Given the description of an element on the screen output the (x, y) to click on. 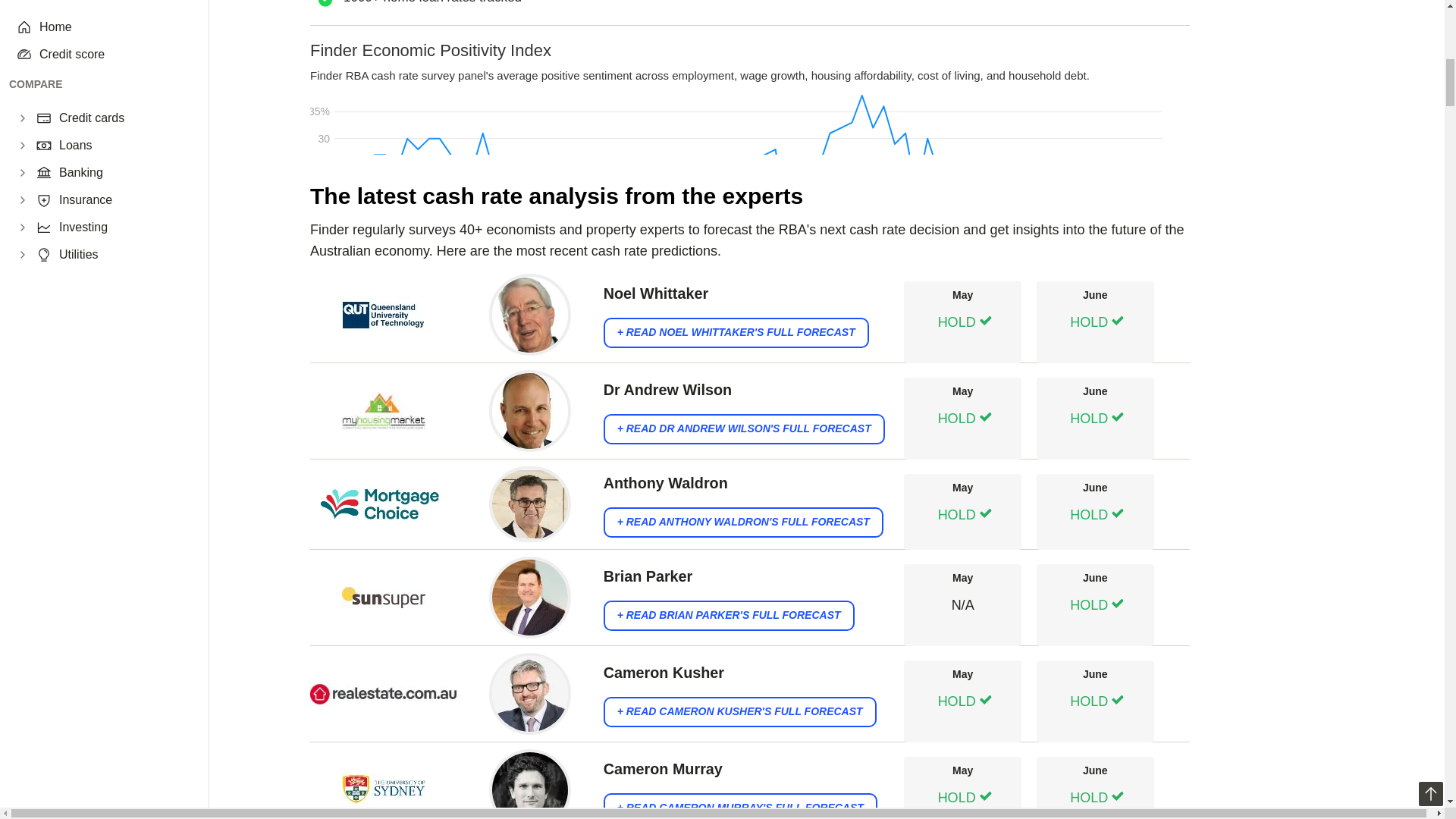
Finder Economic Positivity Index (749, 97)
